Given the description of an element on the screen output the (x, y) to click on. 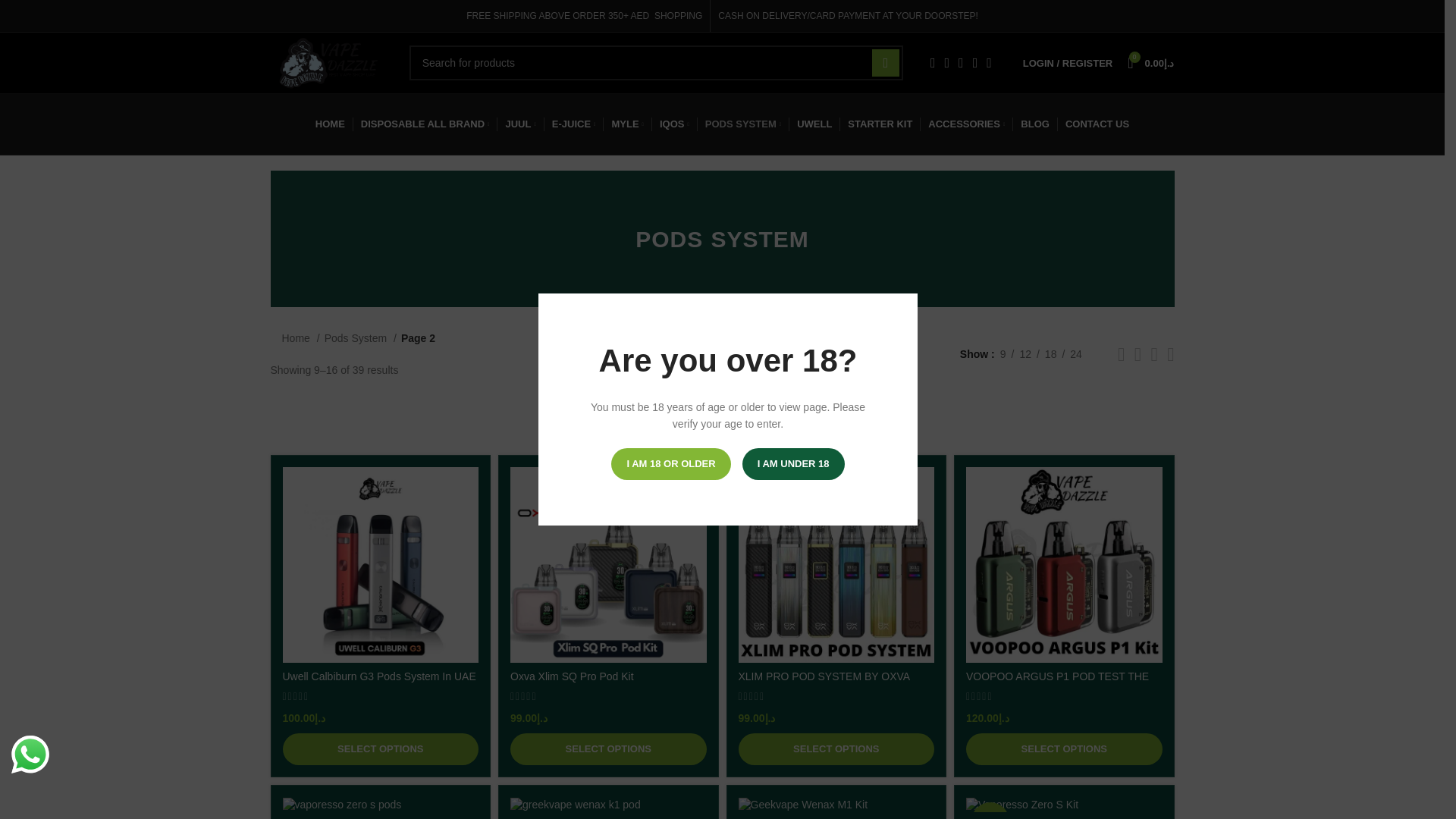
JUUL (520, 123)
My account (1066, 62)
I AM 18 OR OLDER (670, 463)
DISPOSABLE ALL BRAND (425, 123)
I AM UNDER 18 (793, 463)
E-JUICE (573, 123)
HOME (330, 123)
SEARCH (885, 62)
WhatsApp us (30, 754)
Search for products (655, 62)
Shopping cart (1149, 62)
